Given the description of an element on the screen output the (x, y) to click on. 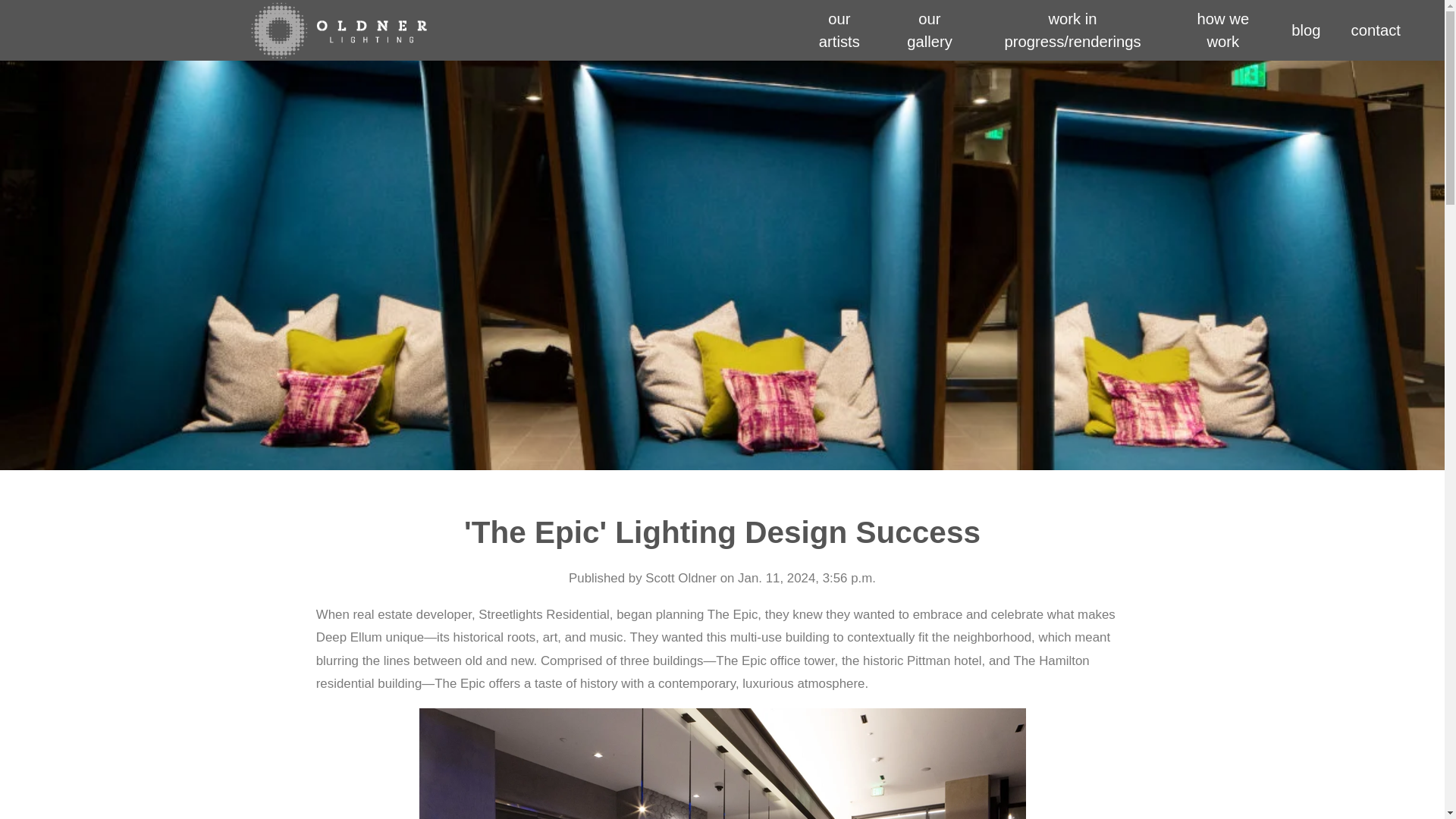
contact (1375, 30)
how we work (1222, 30)
blog (1305, 30)
our gallery (929, 30)
our artists (838, 30)
